Given the description of an element on the screen output the (x, y) to click on. 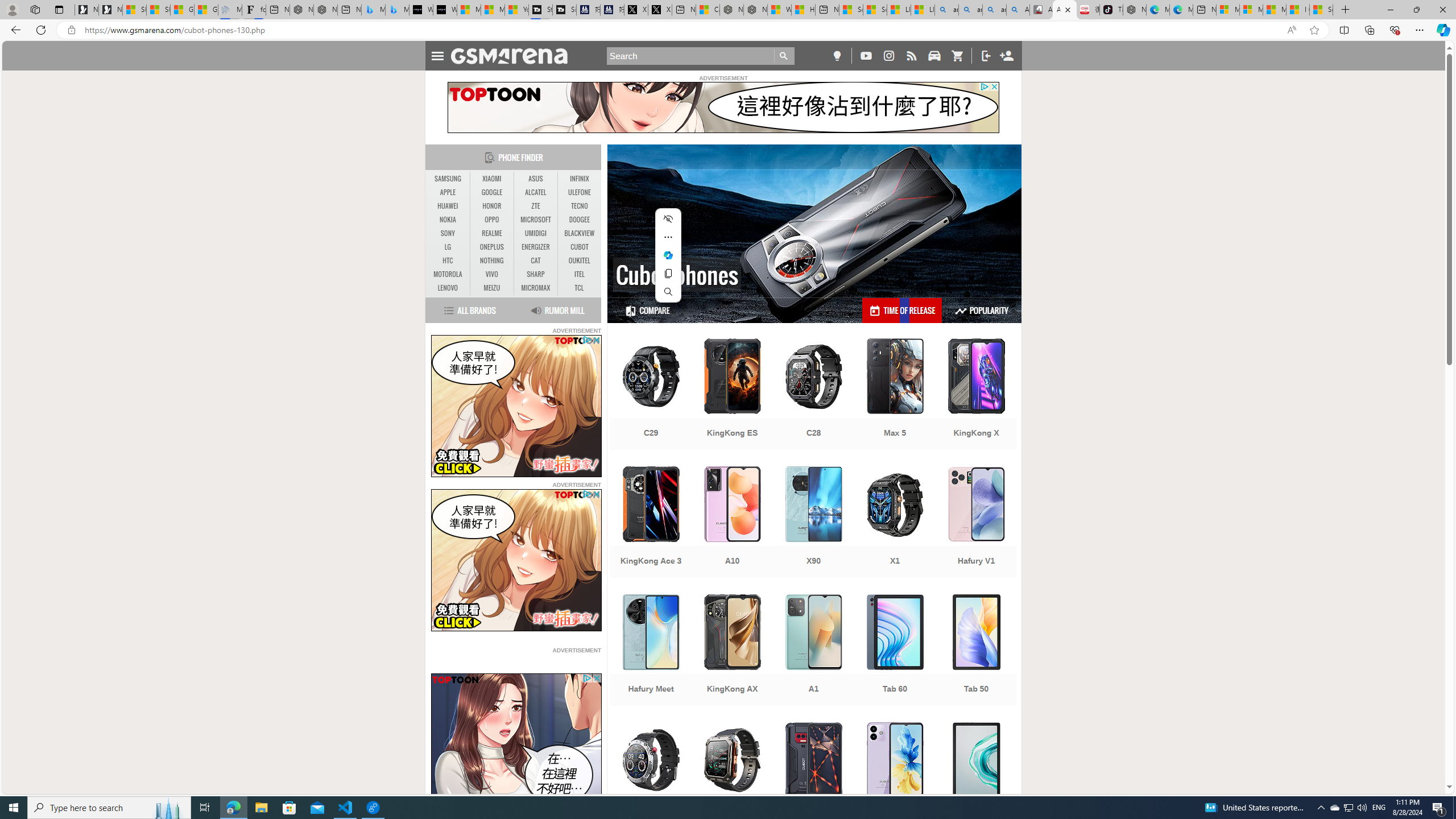
NOTHING (491, 260)
Class: privacy_out (586, 678)
A10 (732, 523)
I Gained 20 Pounds of Muscle in 30 Days! | Watch (1297, 9)
Microsoft Bing Travel - Stays in Bangkok, Bangkok, Thailand (373, 9)
MICROMAX (535, 287)
HUAWEI (448, 205)
